Given the description of an element on the screen output the (x, y) to click on. 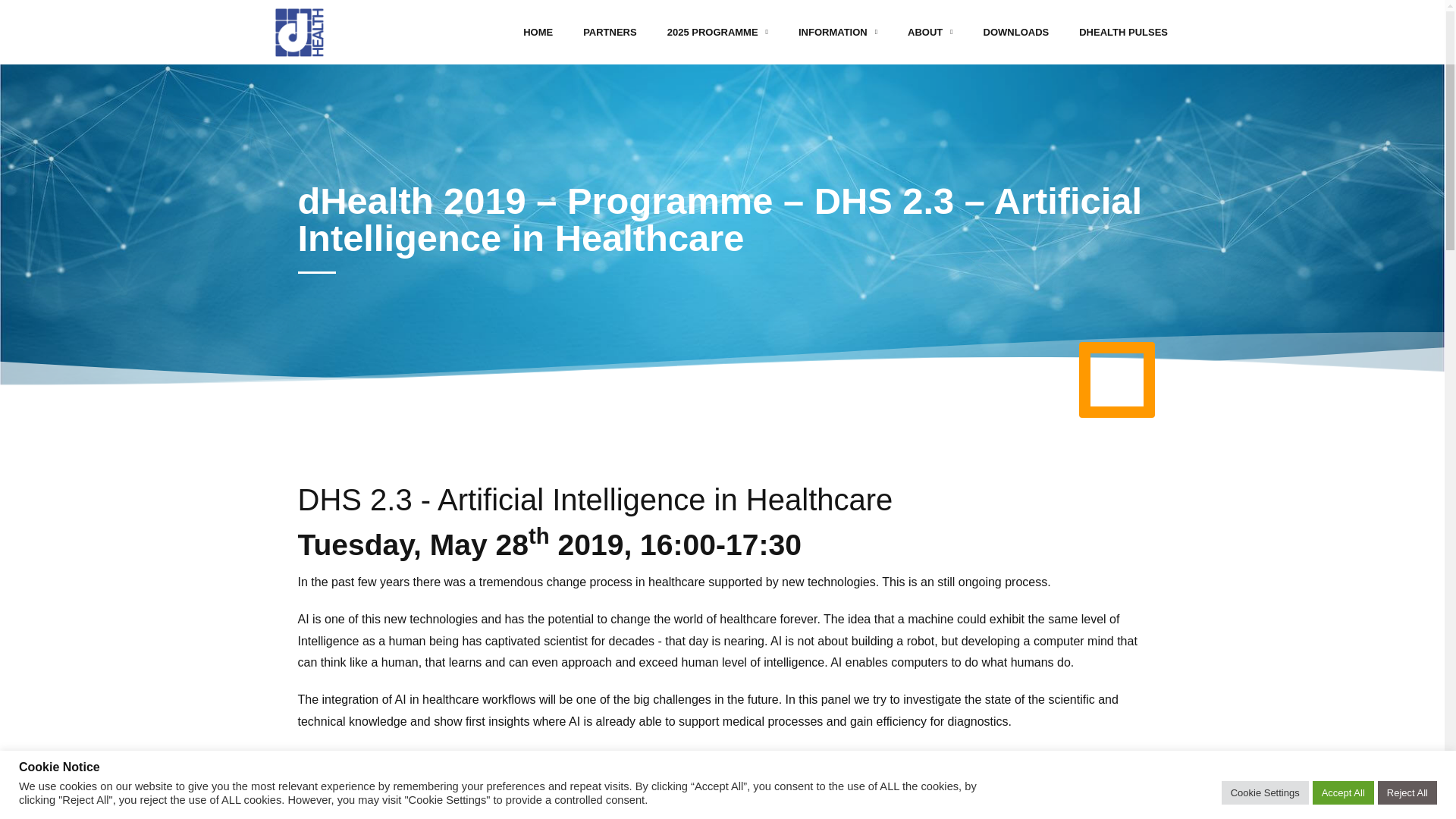
PARTNERS (609, 32)
ABOUT (930, 32)
INFORMATION (837, 32)
DOWNLOADS (1016, 32)
2025 PROGRAMME (717, 32)
DHEALTH PULSES (1123, 32)
HOME (537, 32)
